Given the description of an element on the screen output the (x, y) to click on. 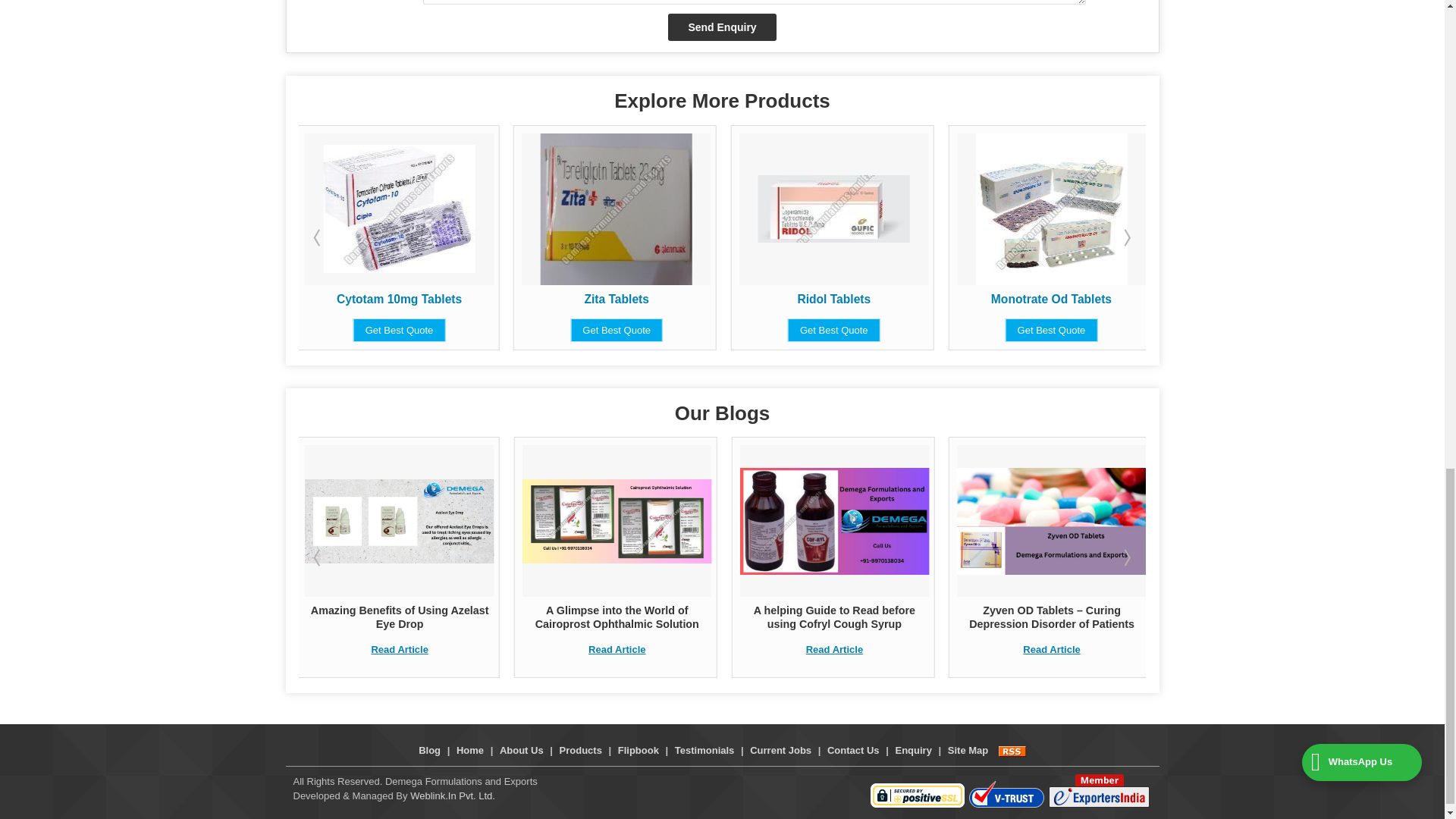
Send Enquiry (722, 26)
